Given the description of an element on the screen output the (x, y) to click on. 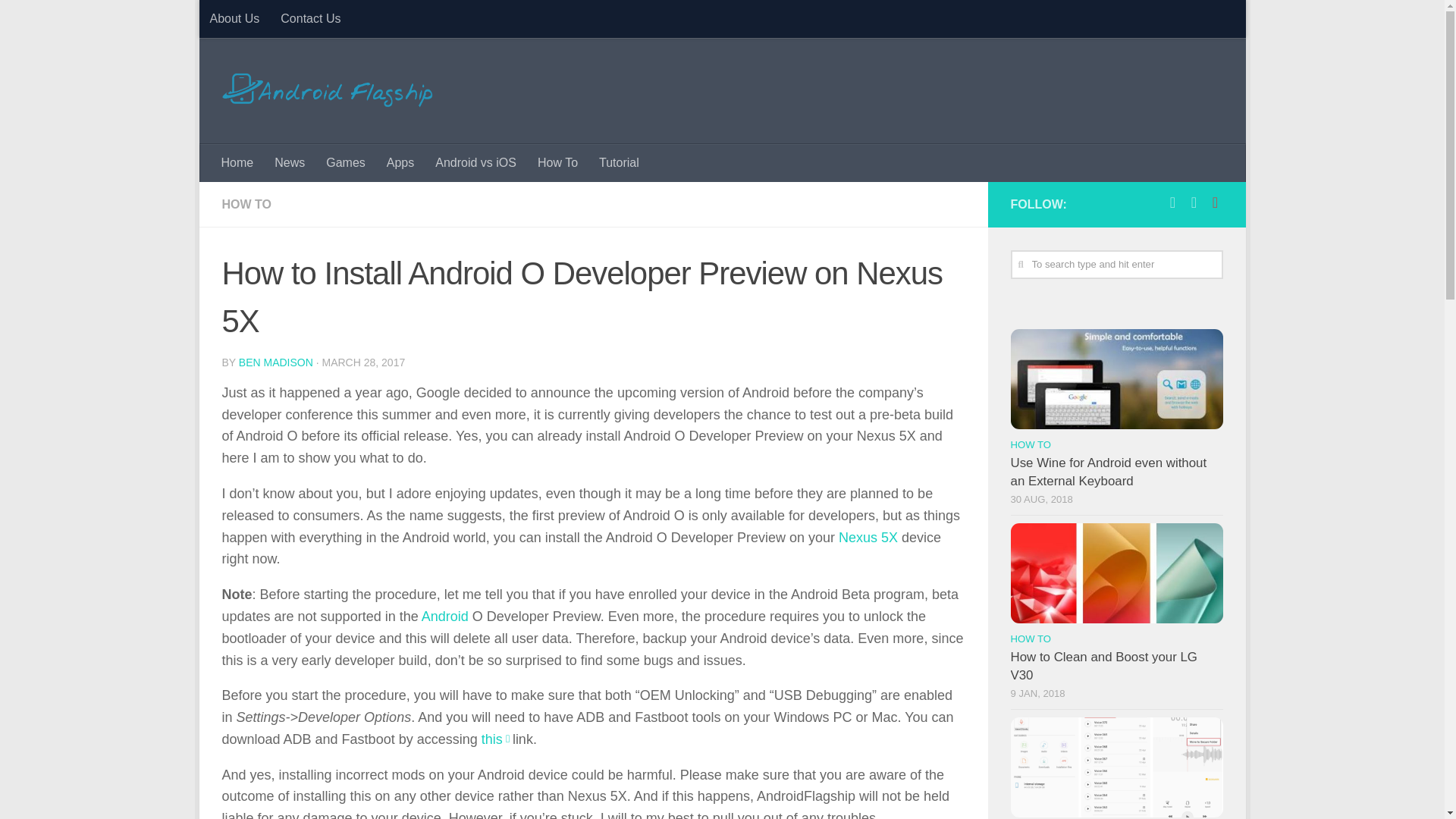
Android (445, 616)
Follow us on Twitter (1193, 201)
To search type and hit enter (1116, 264)
Home (237, 162)
Contact Us (309, 18)
Apps (400, 162)
Android vs iOS (476, 162)
Games (345, 162)
Follow us on Facebook (1171, 201)
News (289, 162)
